Given the description of an element on the screen output the (x, y) to click on. 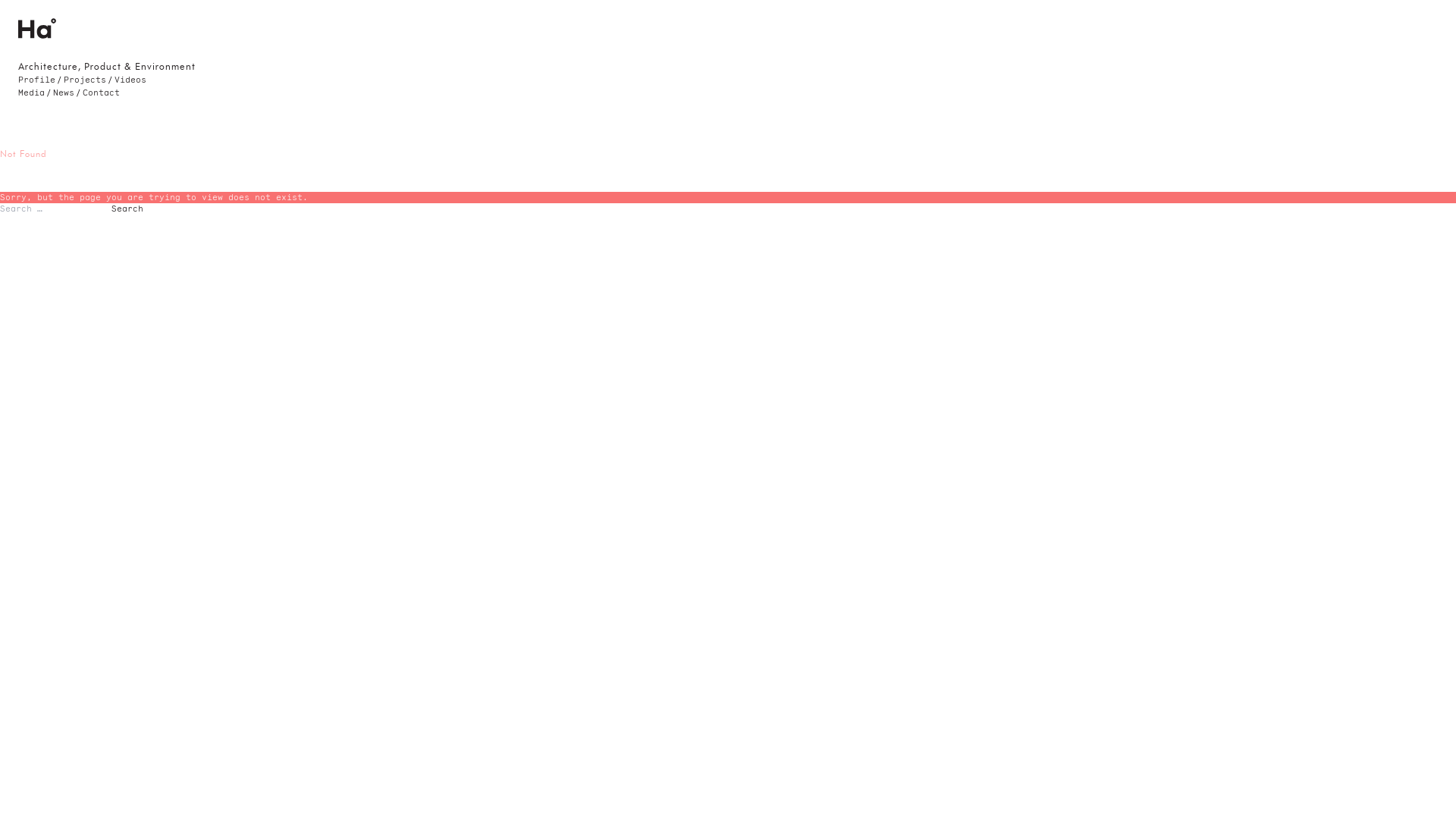
Projects Element type: text (84, 79)
News Element type: text (63, 92)
Search Element type: text (127, 208)
Media Element type: text (31, 92)
Contact Element type: text (100, 92)
Profile Element type: text (36, 79)
Videos Element type: text (130, 79)
